Given the description of an element on the screen output the (x, y) to click on. 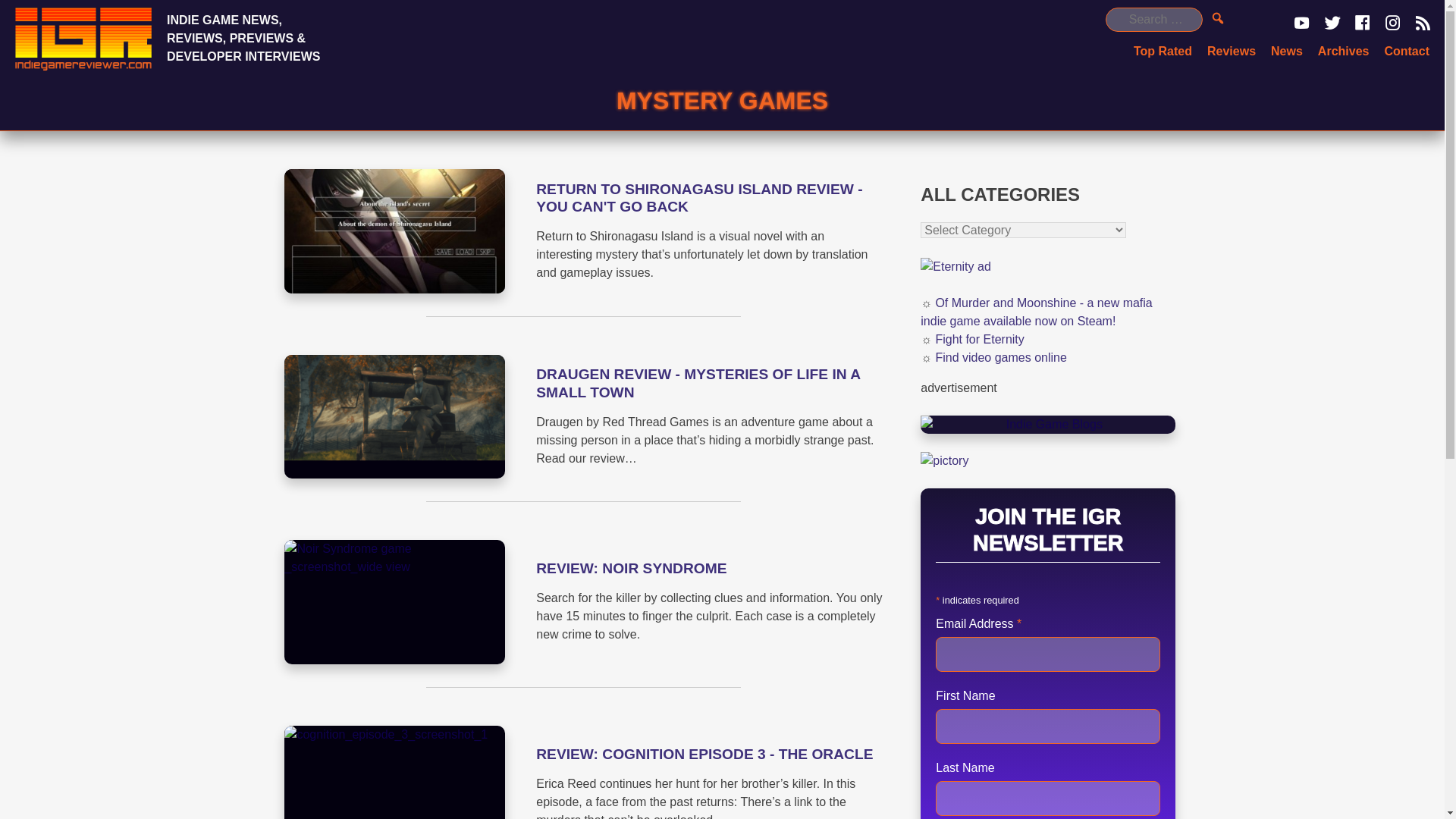
Reviews (1231, 51)
Find video games online (999, 357)
DRAUGEN REVIEW - MYSTERIES OF LIFE IN A SMALL TOWN (697, 382)
Search for: (1153, 19)
Fight for Eternity (978, 338)
Archives (1343, 51)
Mastodon (26, 8)
Indie Game blogs (1047, 424)
REVIEW: NOIR SYNDROME (630, 568)
REVIEW: COGNITION EPISODE 3 - THE ORACLE (703, 754)
RETURN TO SHIRONAGASU ISLAND REVIEW - YOU CAN'T GO BACK (698, 197)
News (1287, 51)
Top Rated (1163, 51)
Contact (1406, 51)
